Given the description of an element on the screen output the (x, y) to click on. 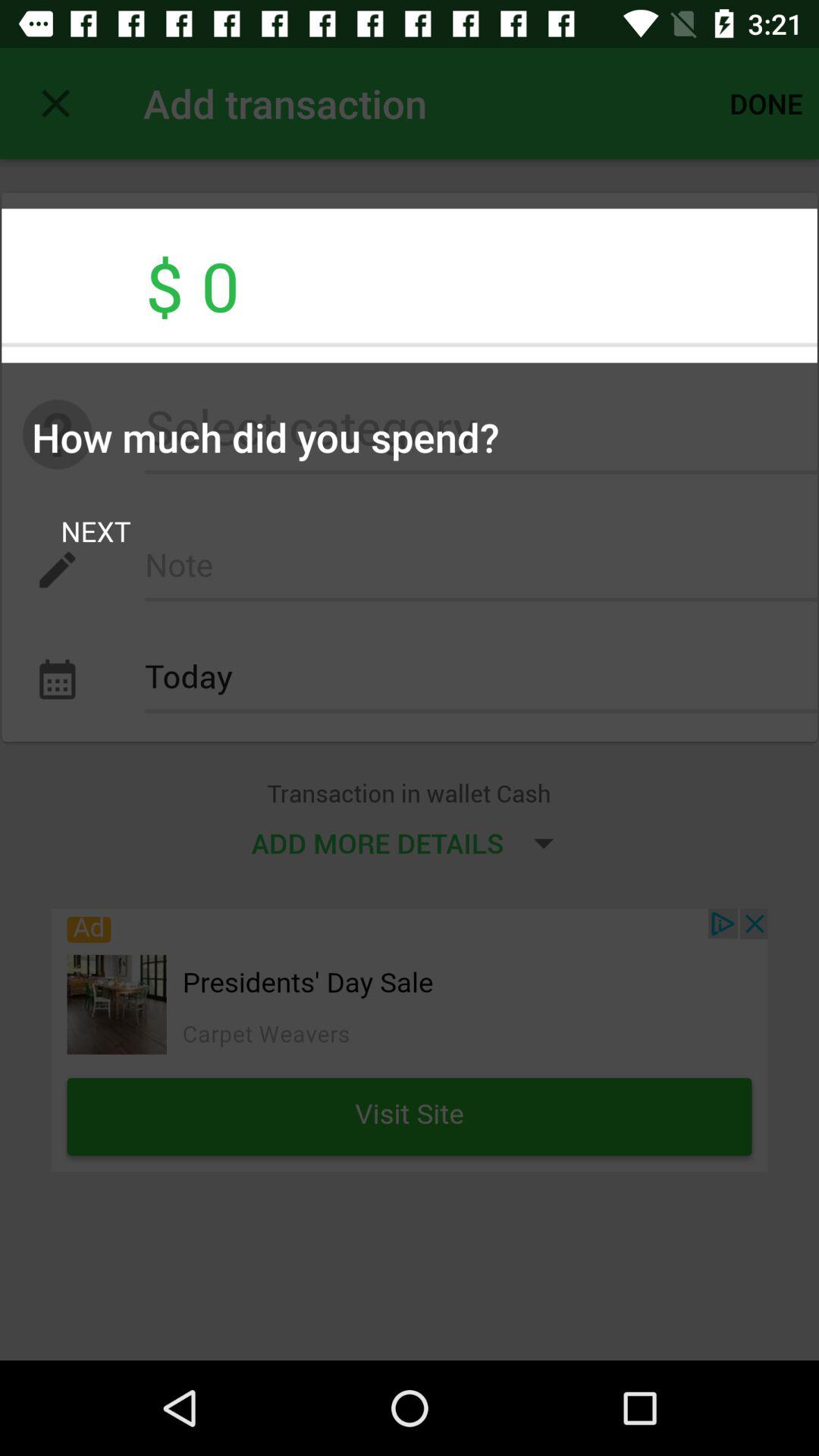
press item above today (95, 531)
